Given the description of an element on the screen output the (x, y) to click on. 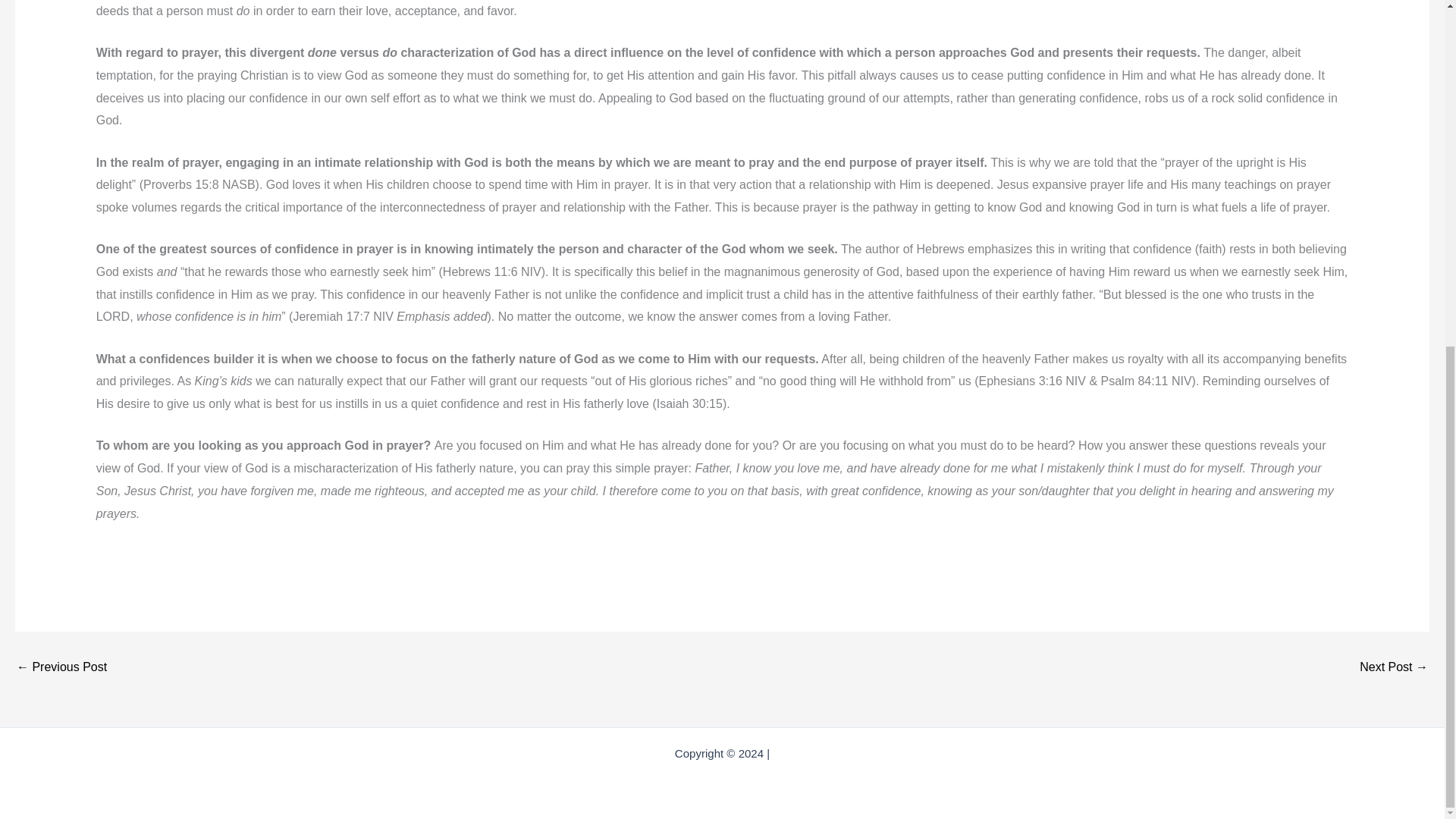
The Power of a Simple Prayer (1393, 666)
The 2nd Way to Increase Your Confidence in Prayer (61, 666)
